Given the description of an element on the screen output the (x, y) to click on. 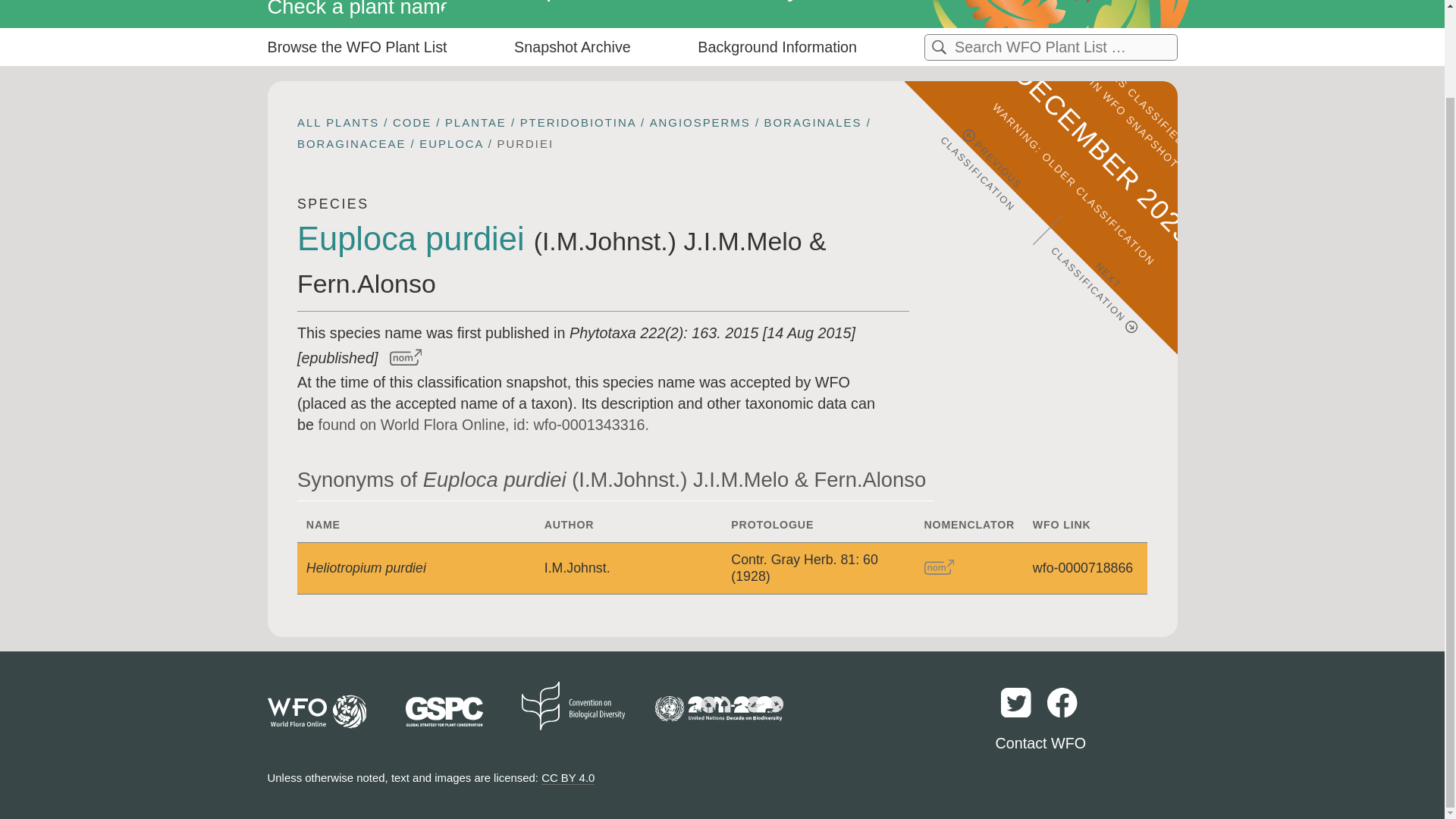
J.I.M.Melo (742, 240)
found on World Flora Online, id: wfo-0001343316. (483, 424)
I.M.Johnst. (604, 240)
Check a plant name (380, 11)
Twitter Logo (1015, 702)
I.M.Johnst. (577, 567)
CC BY 4.0 (567, 777)
NEXT CLASSIFICATION (1106, 240)
wfo-0000718866 (1082, 567)
Link to external nomenclature reference (939, 567)
Twitter Logo (1017, 718)
Ivan Murray Johnston 1898-1960 (604, 240)
Link to external nomenclature reference (938, 566)
Background Information (704, 7)
